Given the description of an element on the screen output the (x, y) to click on. 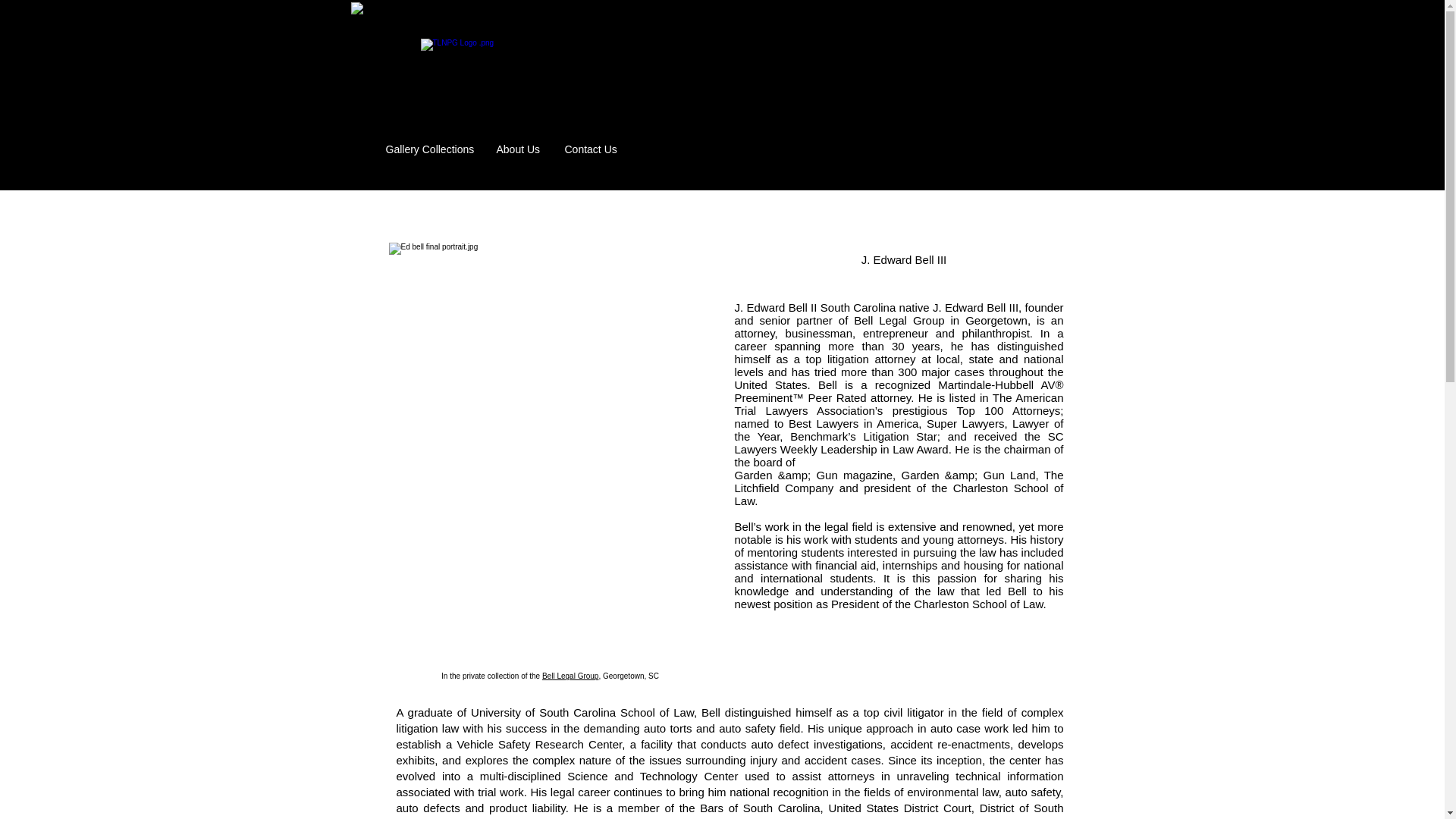
Bell Legal Group (569, 675)
R. Ginsburg (365, 156)
Gallery Collections (429, 149)
Contact Us (590, 149)
About Us (518, 149)
